Given the description of an element on the screen output the (x, y) to click on. 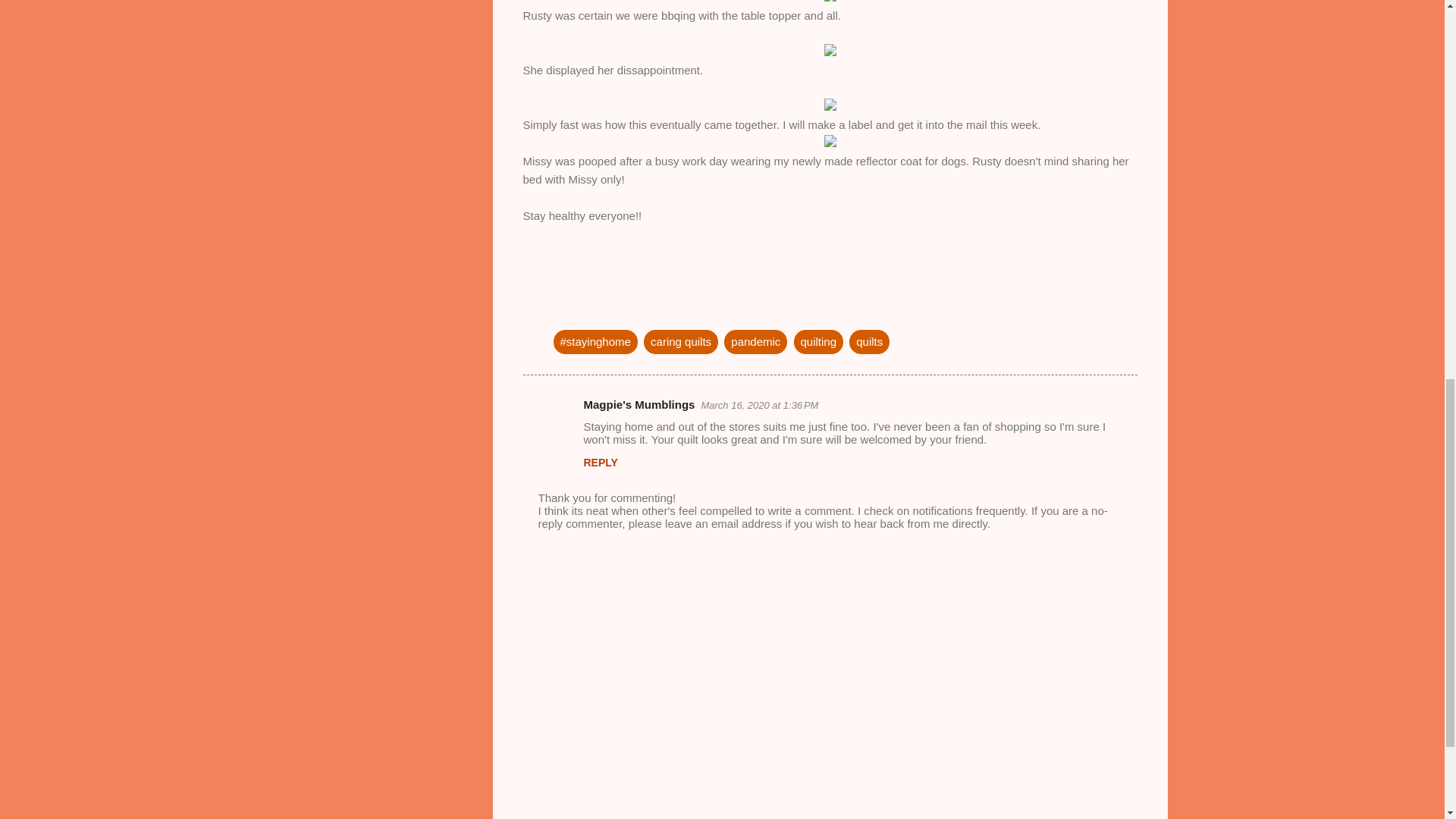
pandemic (755, 340)
quilts (868, 340)
quilting (818, 340)
Magpie's Mumblings (639, 404)
REPLY (600, 462)
caring quilts (680, 340)
